Given the description of an element on the screen output the (x, y) to click on. 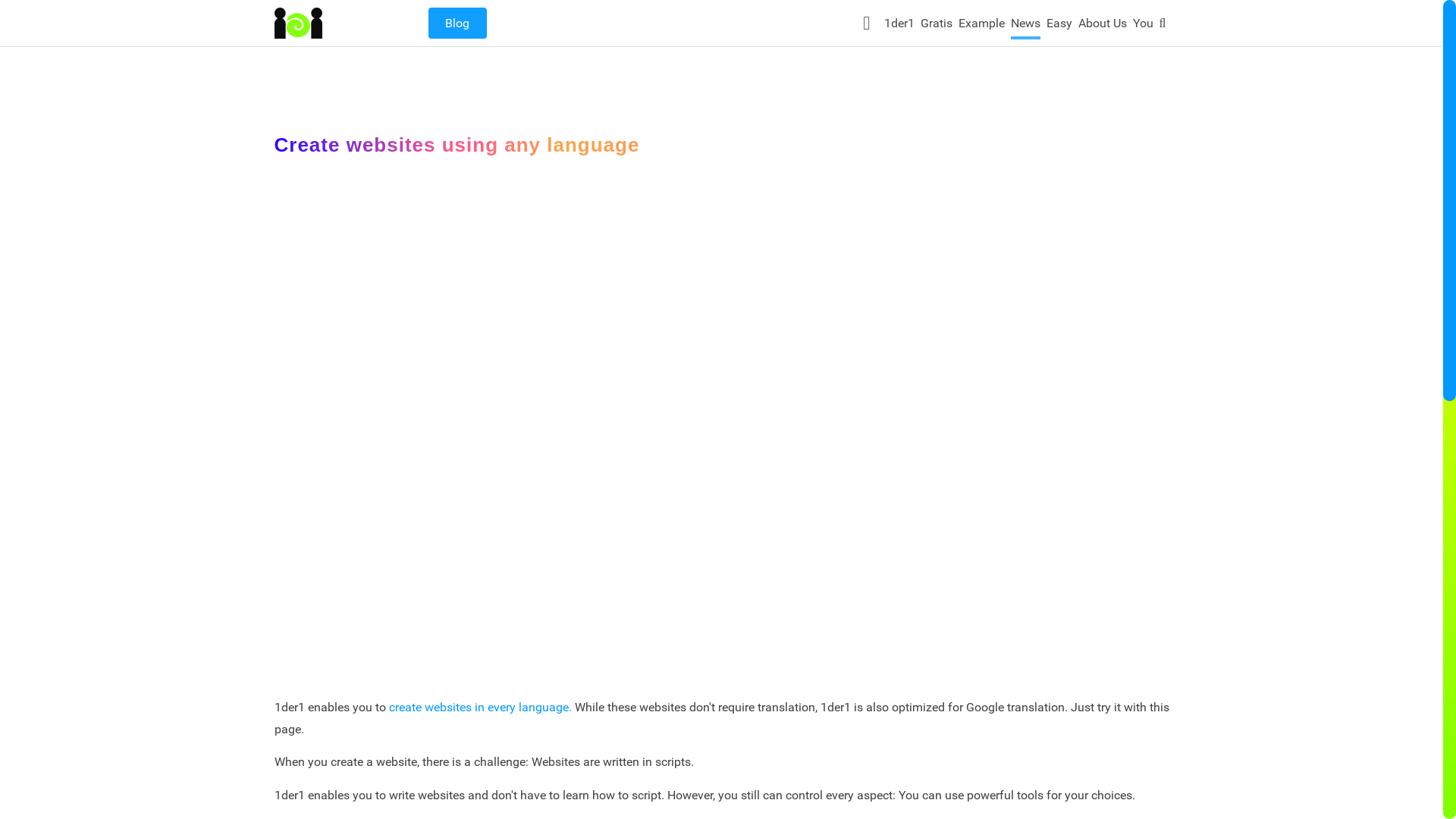
About Us Element type: text (1102, 26)
Listen: Text-to-Speech, Read Aloud Element type: hover (868, 22)
Browse News Blog - All Articles Element type: hover (456, 22)
  Element type: text (868, 22)
Create websites using any language Element type: hover (721, 422)
News Element type: text (1025, 26)
create websites in every language. Element type: text (479, 706)
Blog Element type: text (456, 22)
1der1 Element type: text (899, 26)
'wonder-one' Element type: hover (298, 22)
Create websites using any language Element type: text (457, 144)
You Element type: text (1142, 26)
Example Element type: text (981, 26)
Gratis Element type: text (936, 26)
Easy Element type: text (1059, 26)
